Given the description of an element on the screen output the (x, y) to click on. 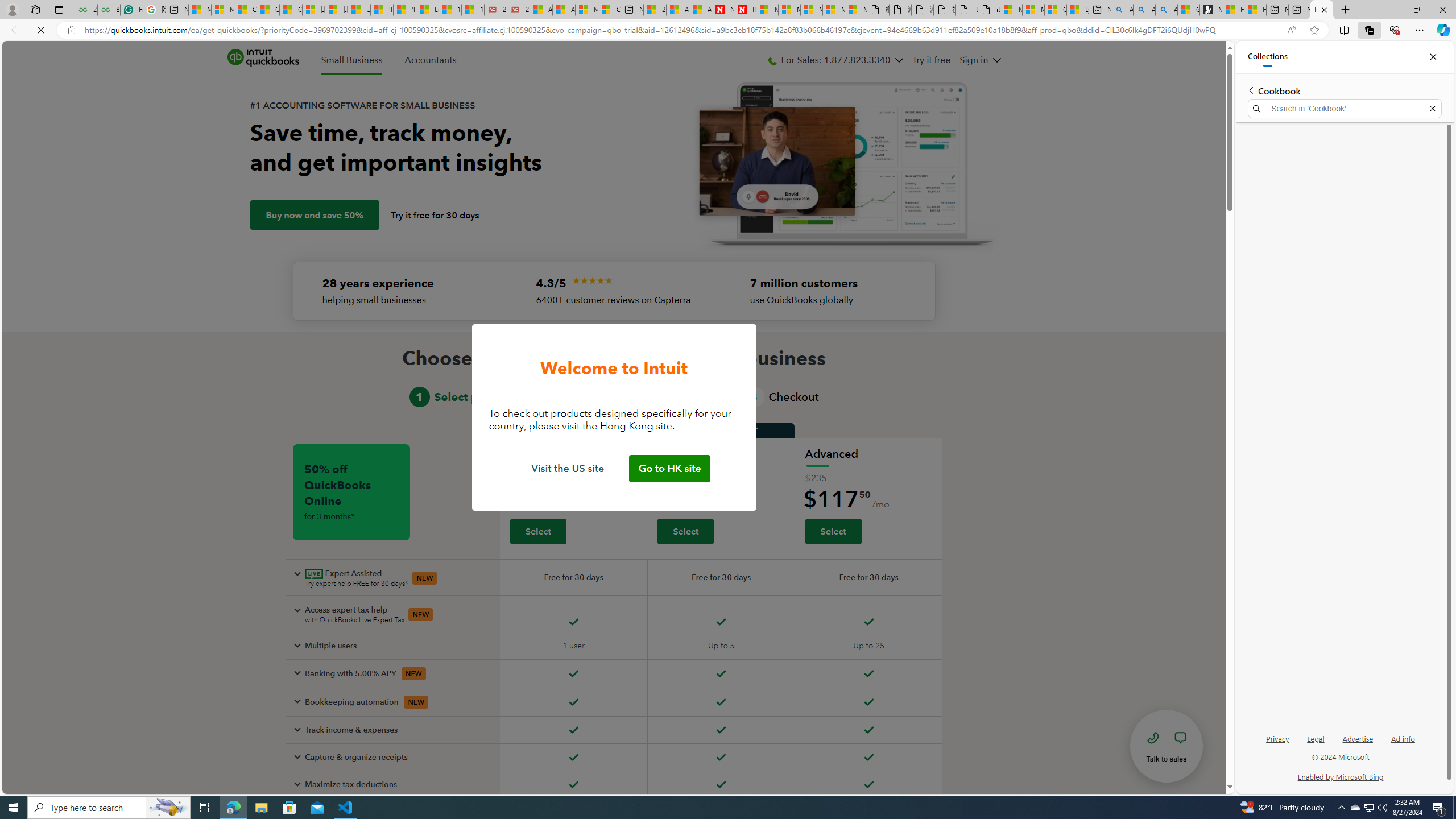
15 Ways Modern Life Contradicts the Teachings of Jesus (473, 9)
Intuit QuickBooks Online - Quickbooks (1322, 9)
Small Business (351, 60)
21 Movies That Outdid the Books They Were Based On (518, 9)
